Given the description of an element on the screen output the (x, y) to click on. 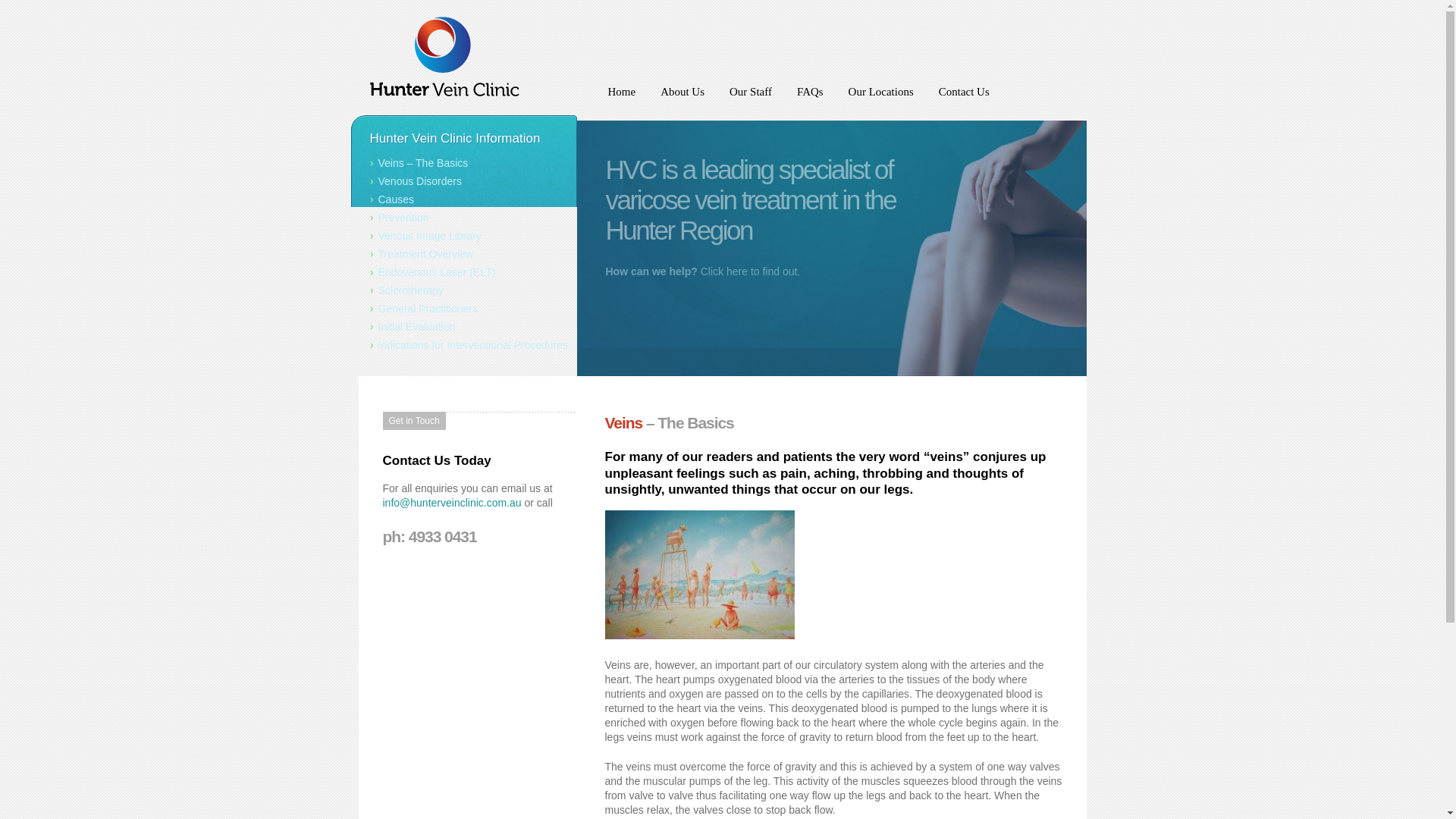
Contact Us (964, 97)
Venous Disorders (464, 181)
About Us (682, 97)
Our Staff (750, 97)
Click here to find out. (748, 271)
Our Locations (881, 97)
Prevention (464, 218)
Indications for Interventional Procedures (464, 345)
General Practitioners (464, 309)
Sclerotherapy (464, 290)
Initial Evaluation (464, 327)
Venous Image Library (464, 236)
Causes (464, 199)
Treatment Overview (464, 254)
